Given the description of an element on the screen output the (x, y) to click on. 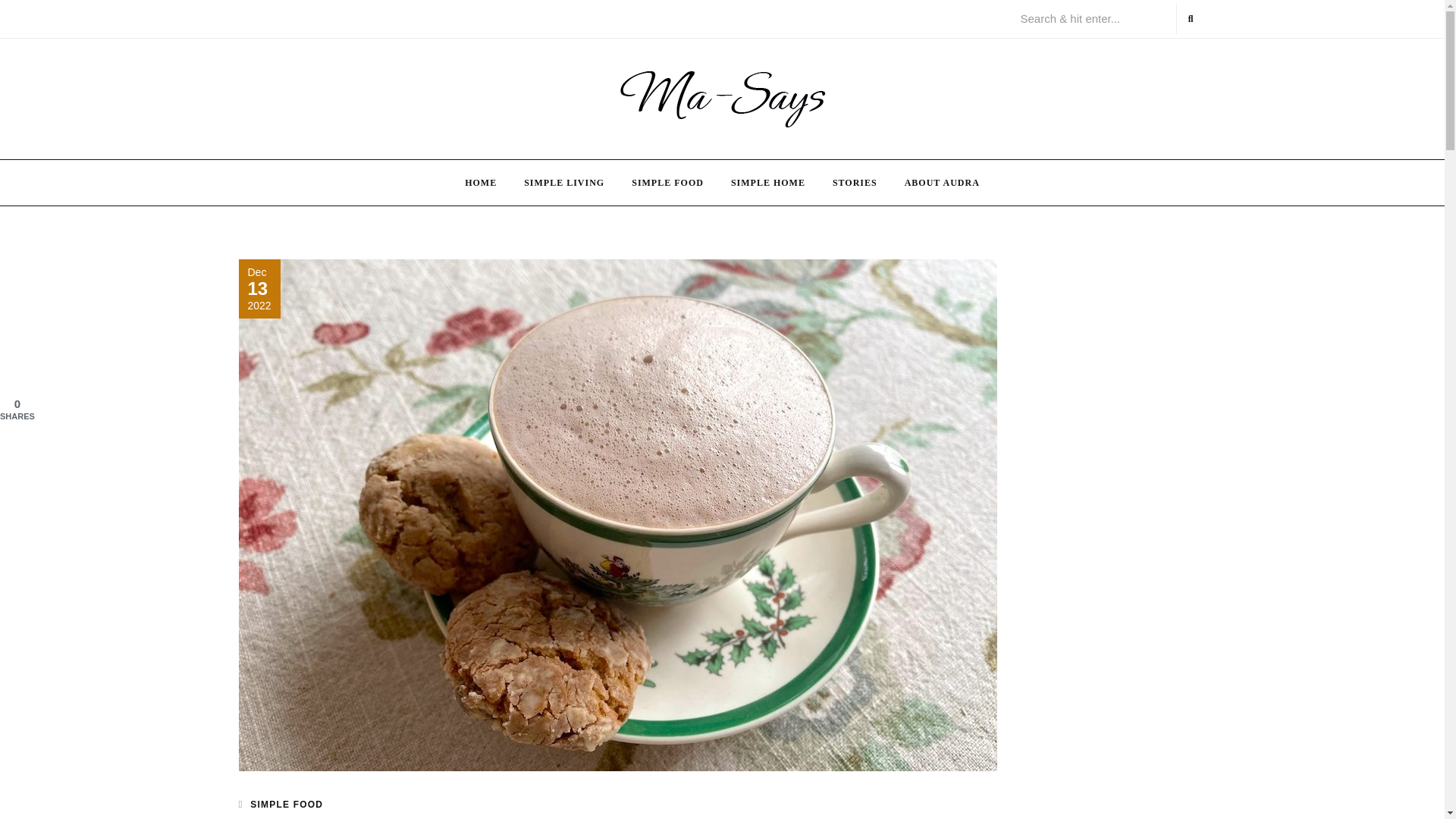
SIMPLE LIVING (564, 182)
HOME (481, 182)
STORIES (854, 182)
ABOUT AUDRA (941, 182)
SIMPLE FOOD (286, 804)
SIMPLE HOME (767, 182)
SIMPLE FOOD (667, 182)
